Given the description of an element on the screen output the (x, y) to click on. 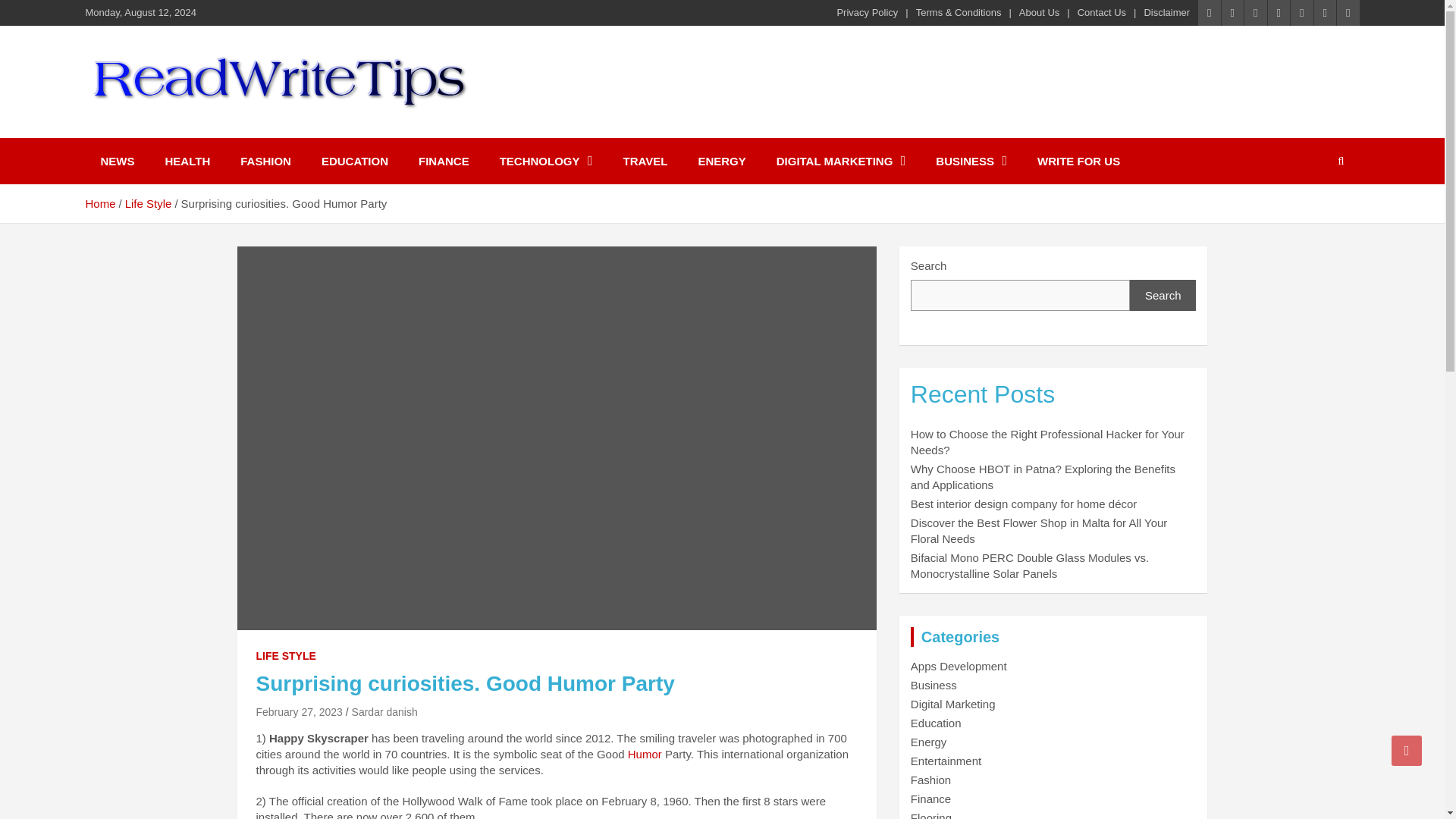
LIFE STYLE (285, 656)
FINANCE (443, 161)
Surprising curiosities. Good Humor Party (299, 711)
EDUCATION (354, 161)
TECHNOLOGY (546, 161)
HEALTH (187, 161)
Privacy Policy (866, 12)
WRITE FOR US (1078, 161)
DIGITAL MARKETING (841, 161)
TRAVEL (644, 161)
